Given the description of an element on the screen output the (x, y) to click on. 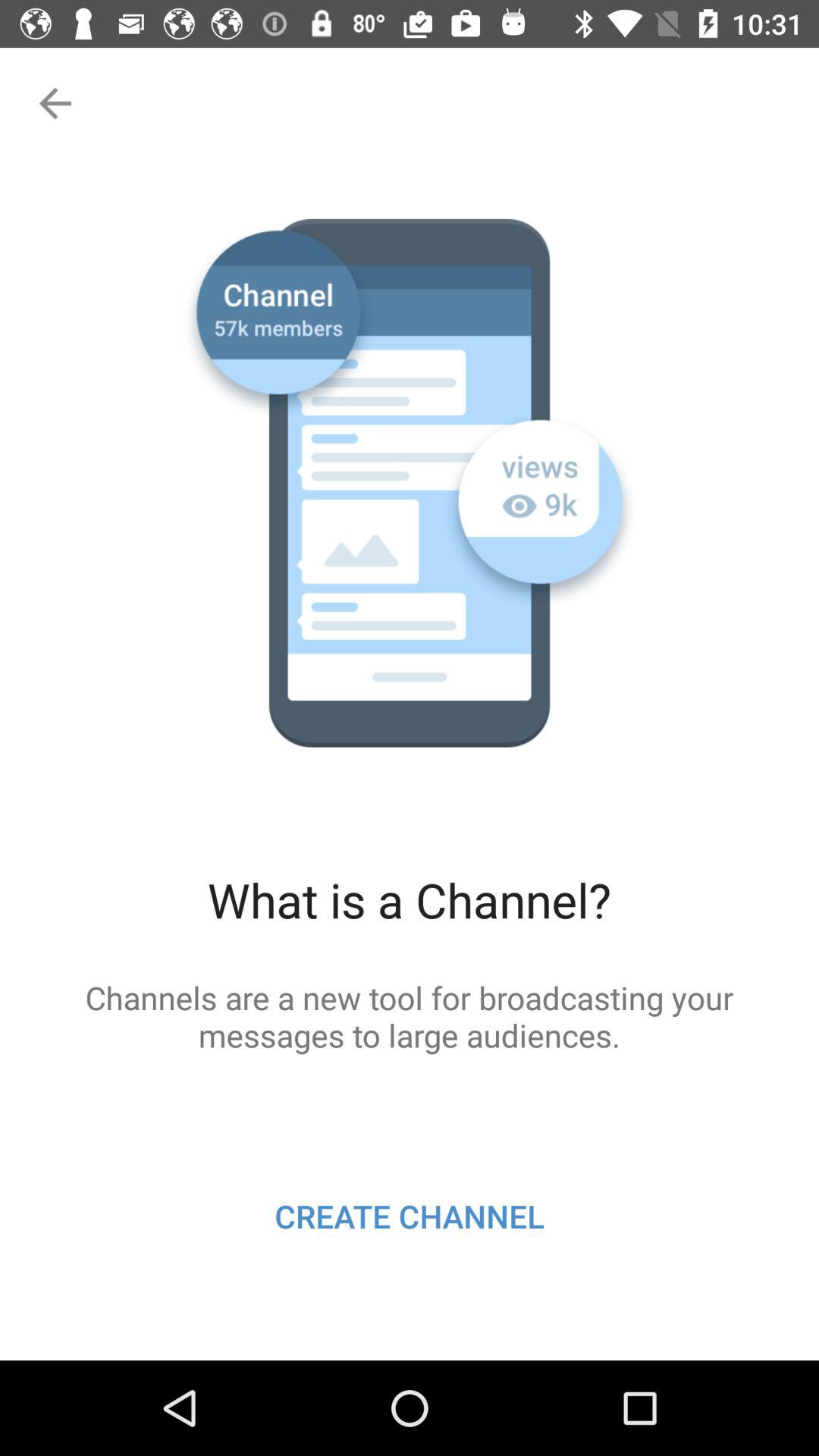
go to back (53, 103)
